Given the description of an element on the screen output the (x, y) to click on. 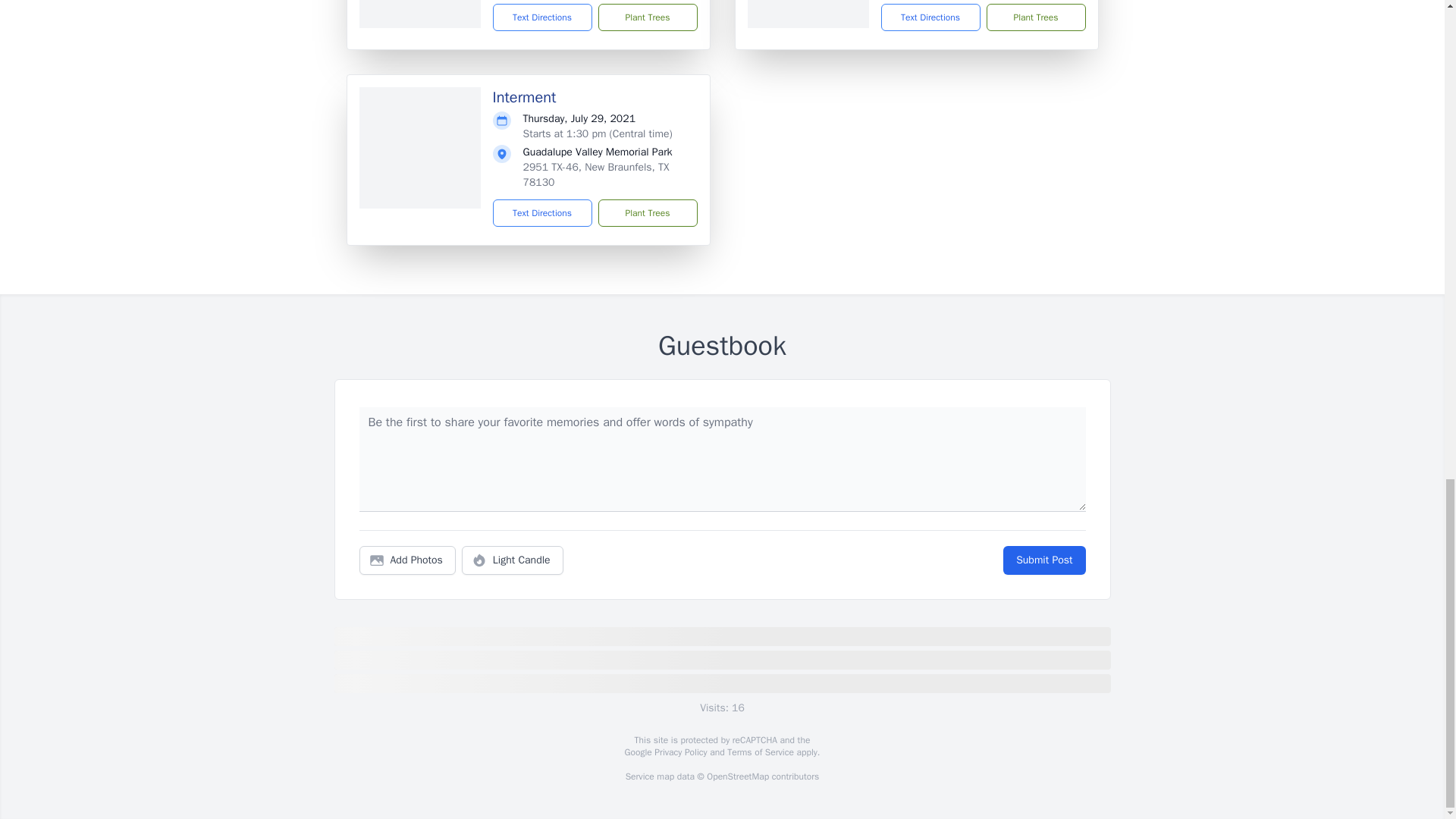
Plant Trees (646, 17)
Text Directions (929, 17)
Plant Trees (1034, 17)
2951 TX-46, New Braunfels, TX 78130 (595, 174)
Text Directions (542, 17)
Text Directions (542, 212)
Submit Post (1043, 560)
Privacy Policy (679, 752)
Plant Trees (646, 212)
Add Photos (407, 560)
Light Candle (512, 560)
